Given the description of an element on the screen output the (x, y) to click on. 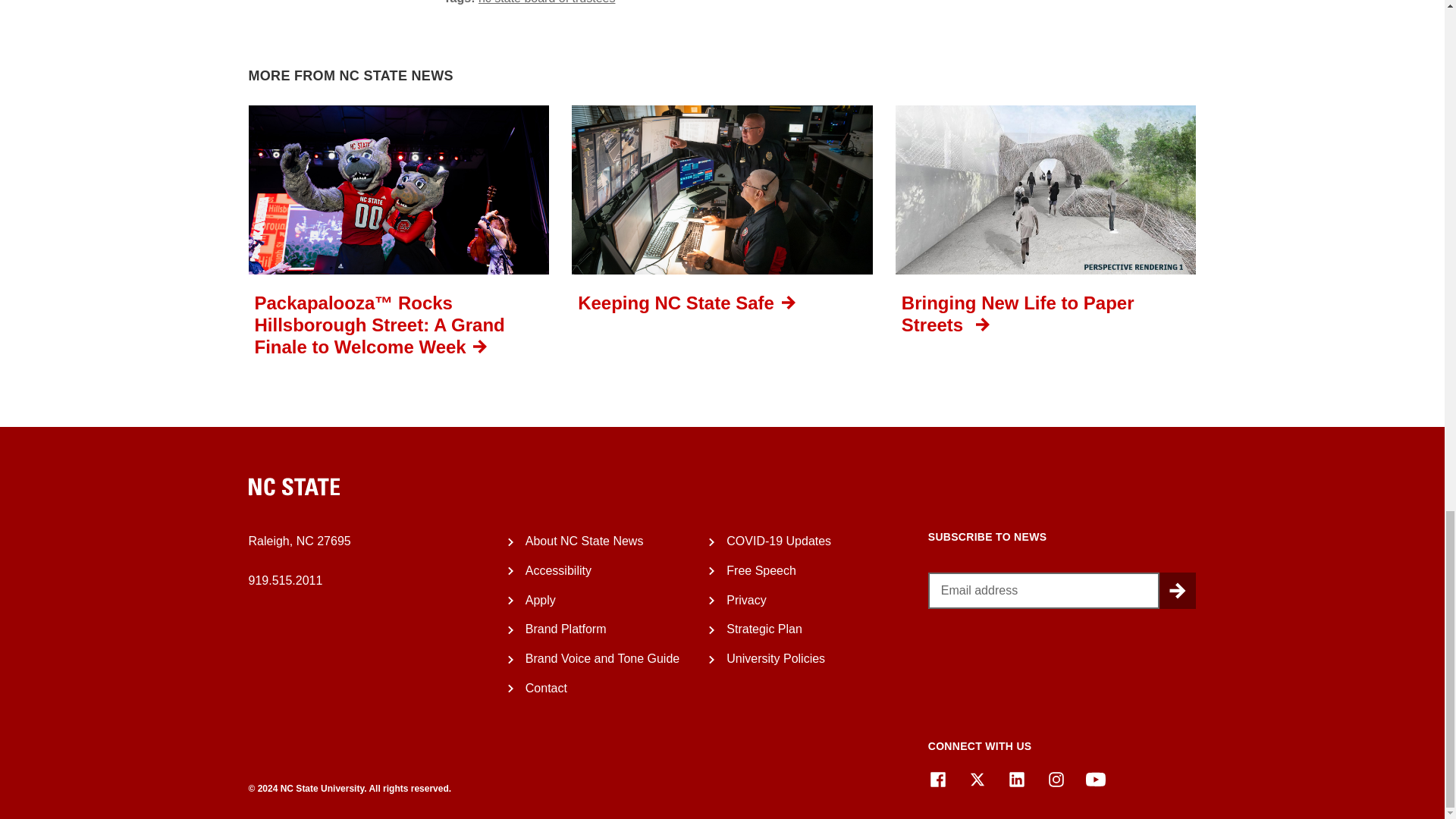
LinkedIn (1016, 779)
YouTube (1095, 779)
Facebook (937, 779)
X (977, 779)
Instagram (1055, 779)
